Given the description of an element on the screen output the (x, y) to click on. 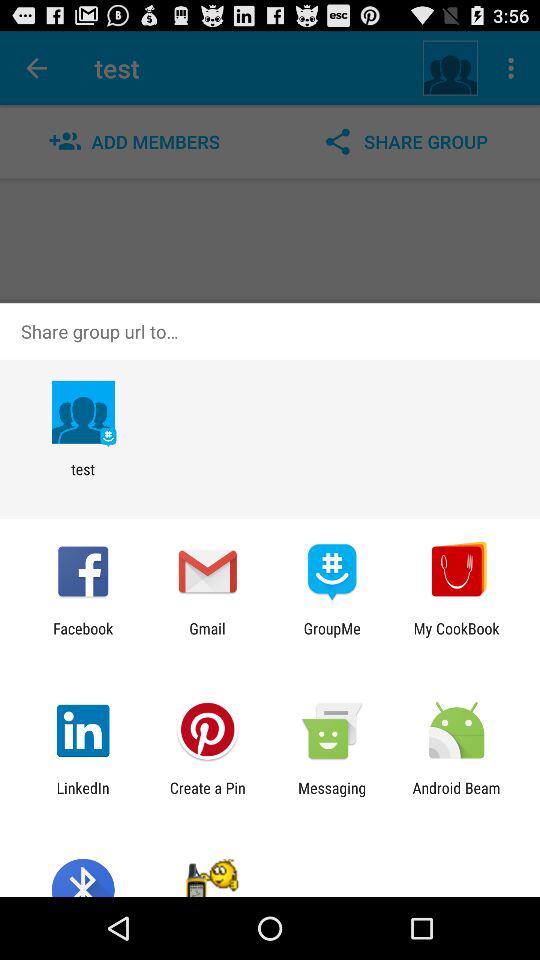
tap the icon next to the groupme (456, 637)
